Given the description of an element on the screen output the (x, y) to click on. 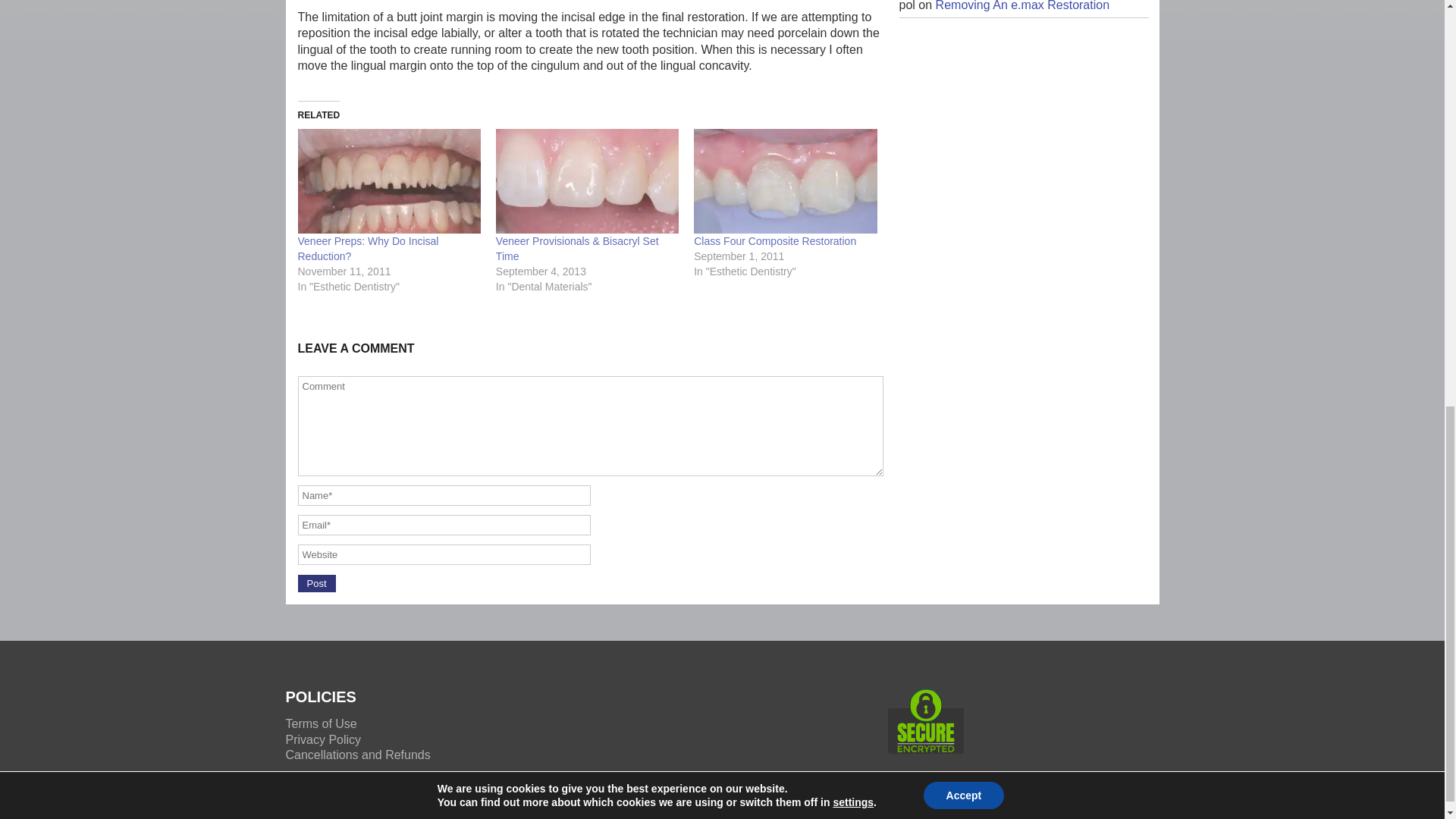
Post (315, 583)
Cancellations and Refunds (357, 754)
Class Four Composite Restoration (785, 180)
Veneer Preps: Why Do Incisal Reduction? (388, 180)
Post (315, 583)
Class Four Composite Restoration (775, 241)
Veneer Preps: Why Do Incisal Reduction? (367, 248)
Terms of Use (320, 723)
Class Four Composite Restoration (775, 241)
Privacy Policy (323, 739)
Veneer Preps: Why Do Incisal Reduction? (367, 248)
